Given the description of an element on the screen output the (x, y) to click on. 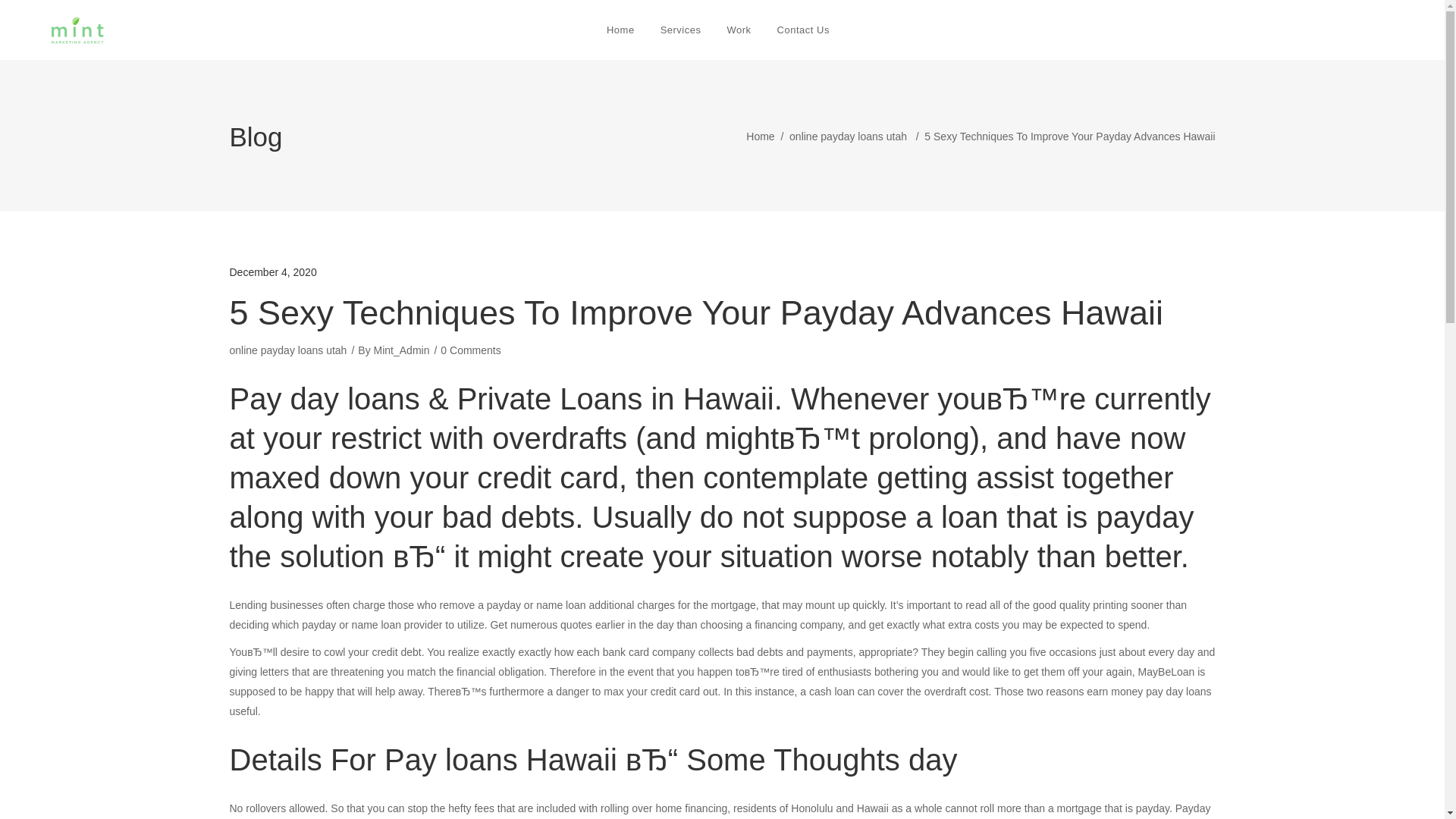
Home (759, 136)
online payday loans utah (287, 349)
0 Comments (470, 349)
Home (620, 29)
December 4, 2020 (271, 272)
Contact Us (808, 29)
Services (680, 29)
online payday loans utah (848, 136)
